Given the description of an element on the screen output the (x, y) to click on. 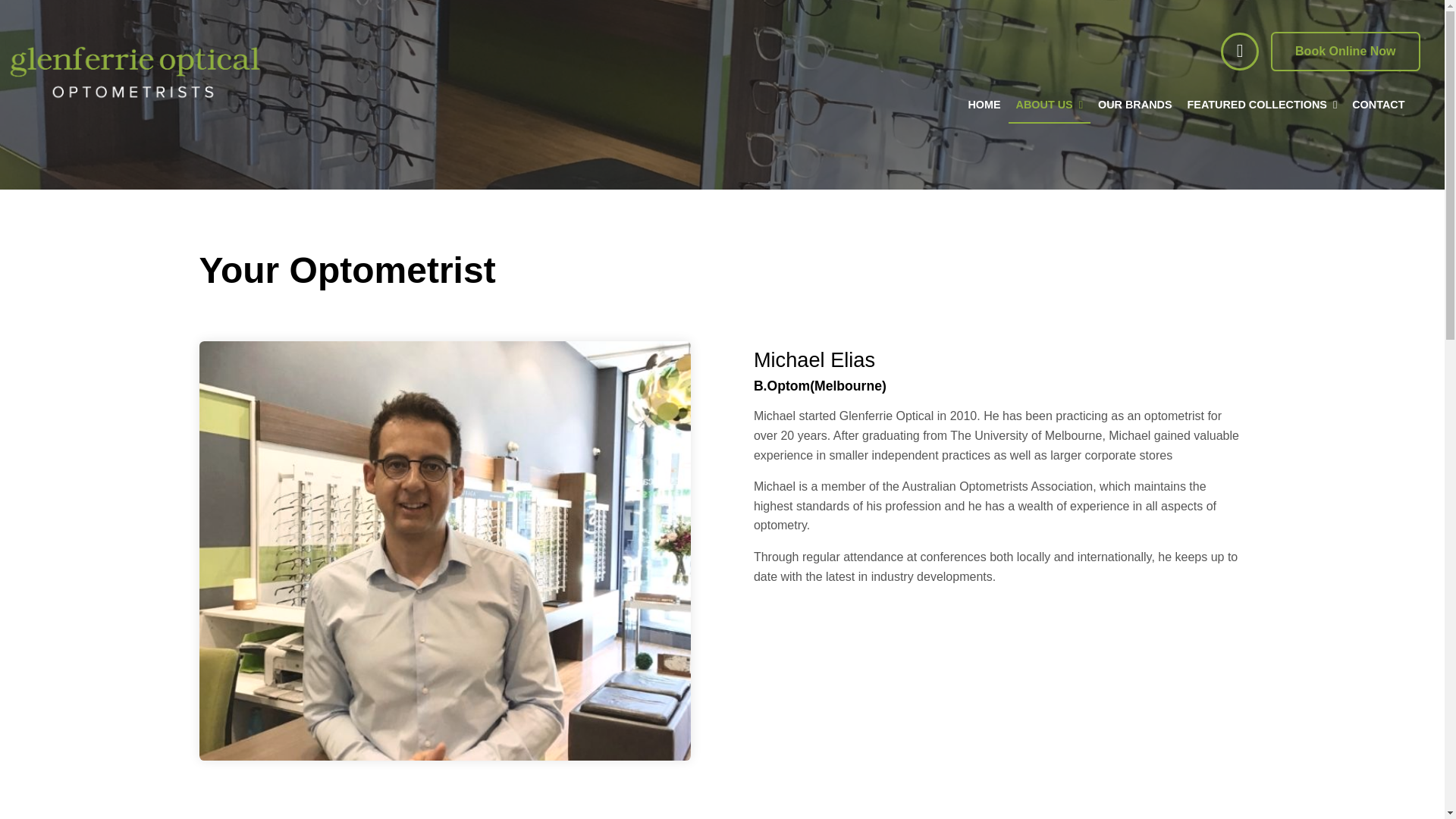
ABOUT US (1049, 105)
HOME (983, 105)
